Given the description of an element on the screen output the (x, y) to click on. 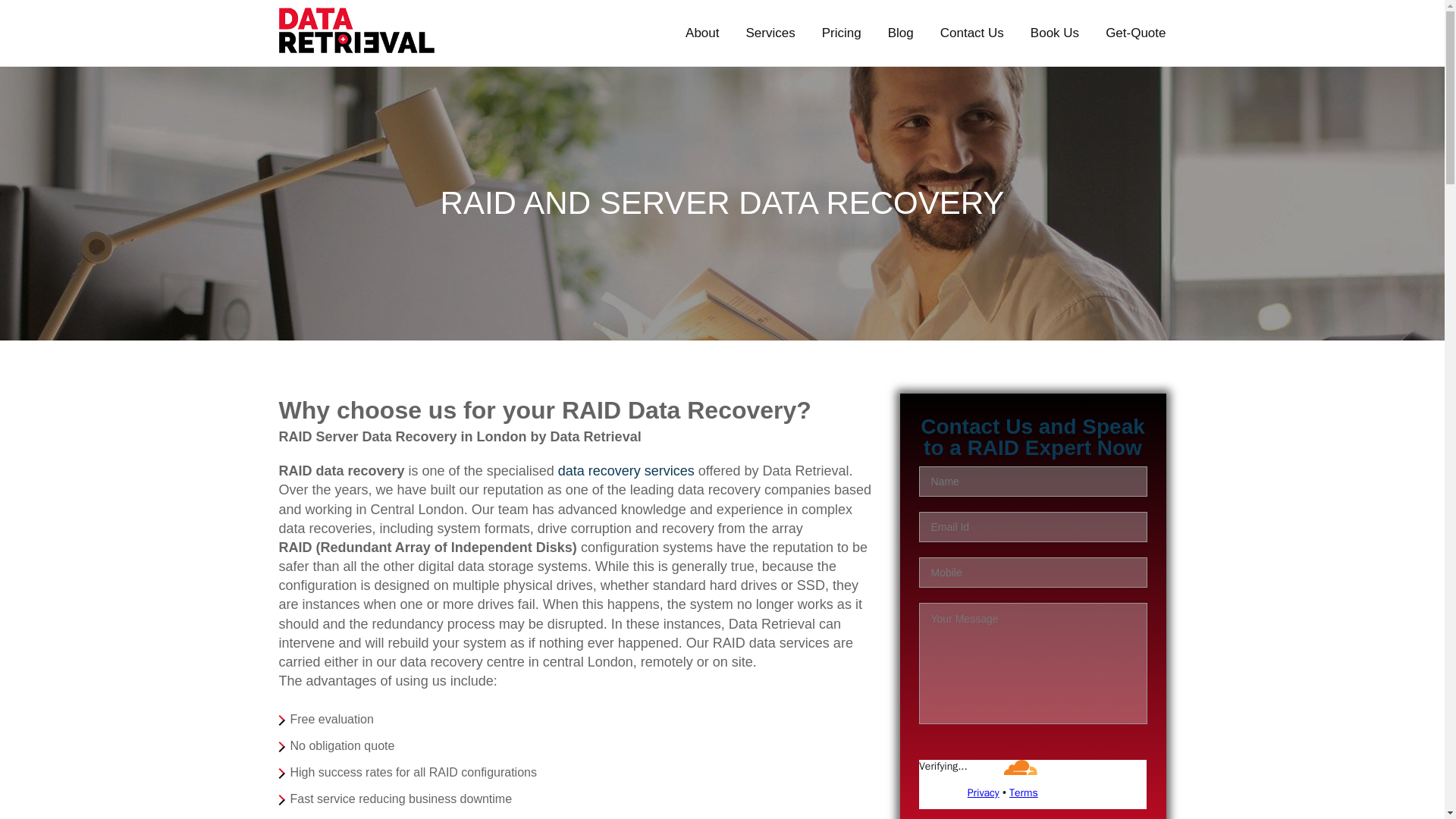
Get-Quote (1135, 33)
Contact Us (972, 33)
data recovery services (625, 470)
